Given the description of an element on the screen output the (x, y) to click on. 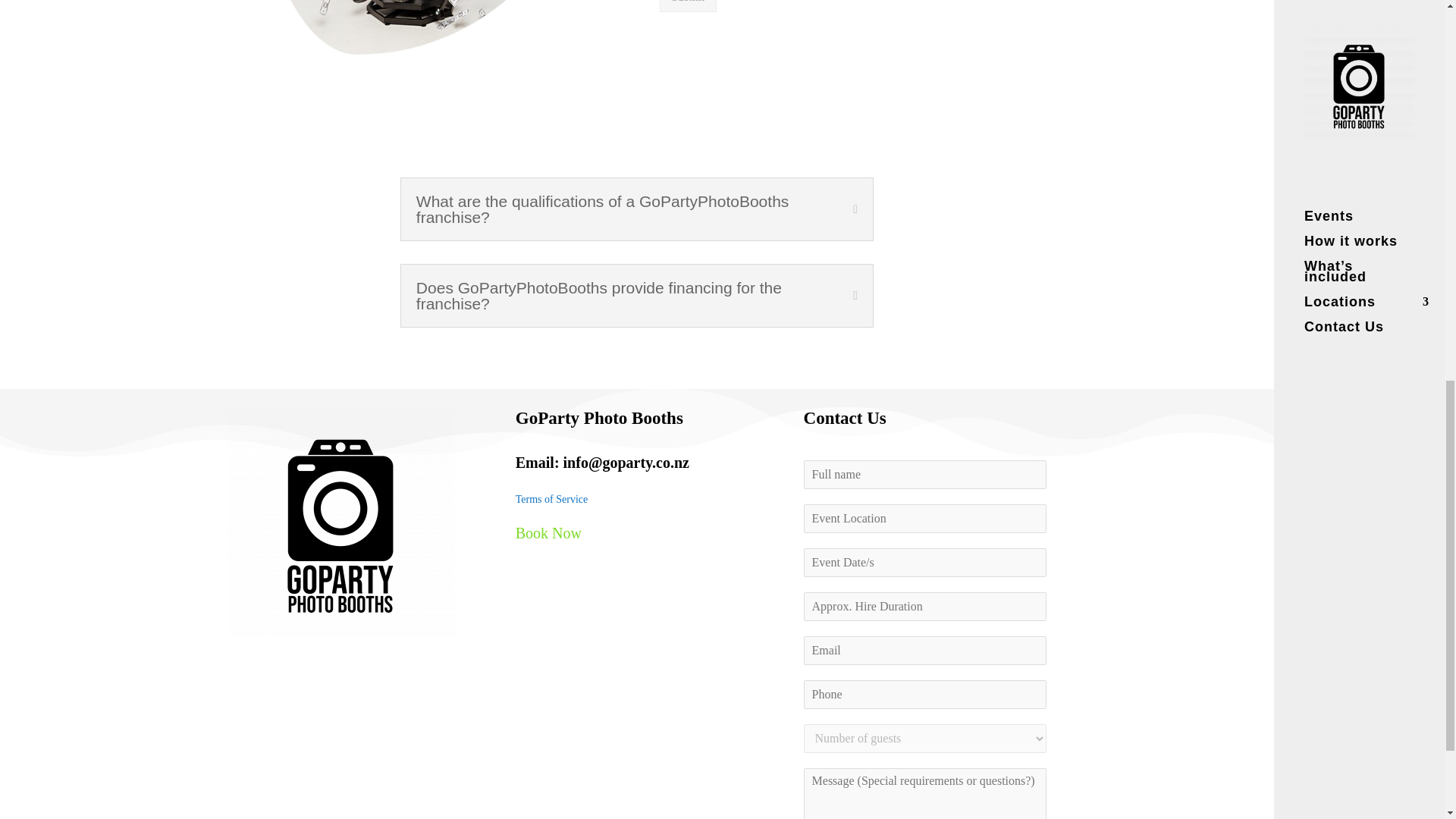
Submit (687, 6)
lol (420, 27)
Go Party Photo Booths Black Transparent (340, 523)
